Given the description of an element on the screen output the (x, y) to click on. 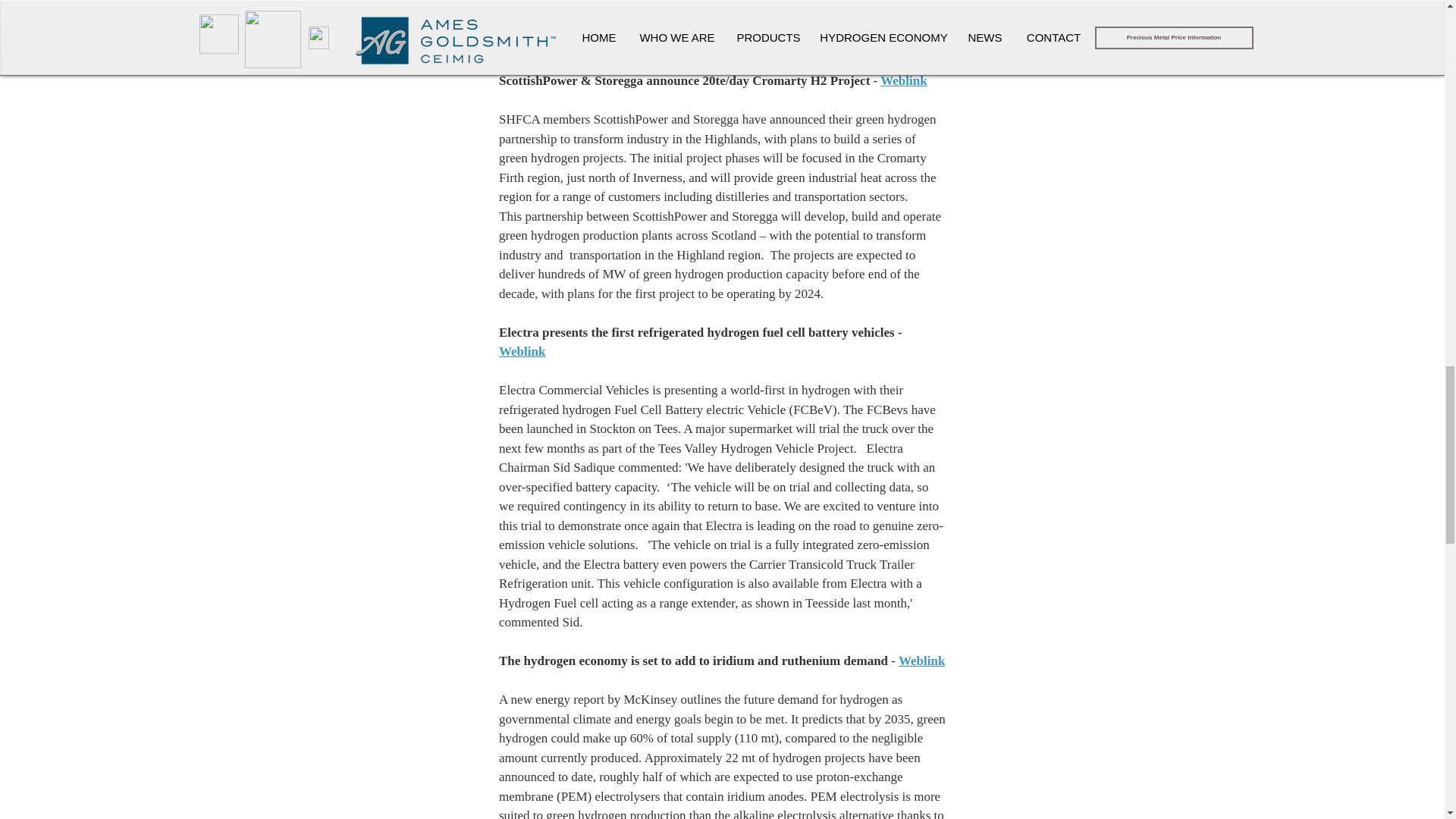
Weblink (903, 80)
Weblink (920, 660)
Weblink (521, 350)
